Given the description of an element on the screen output the (x, y) to click on. 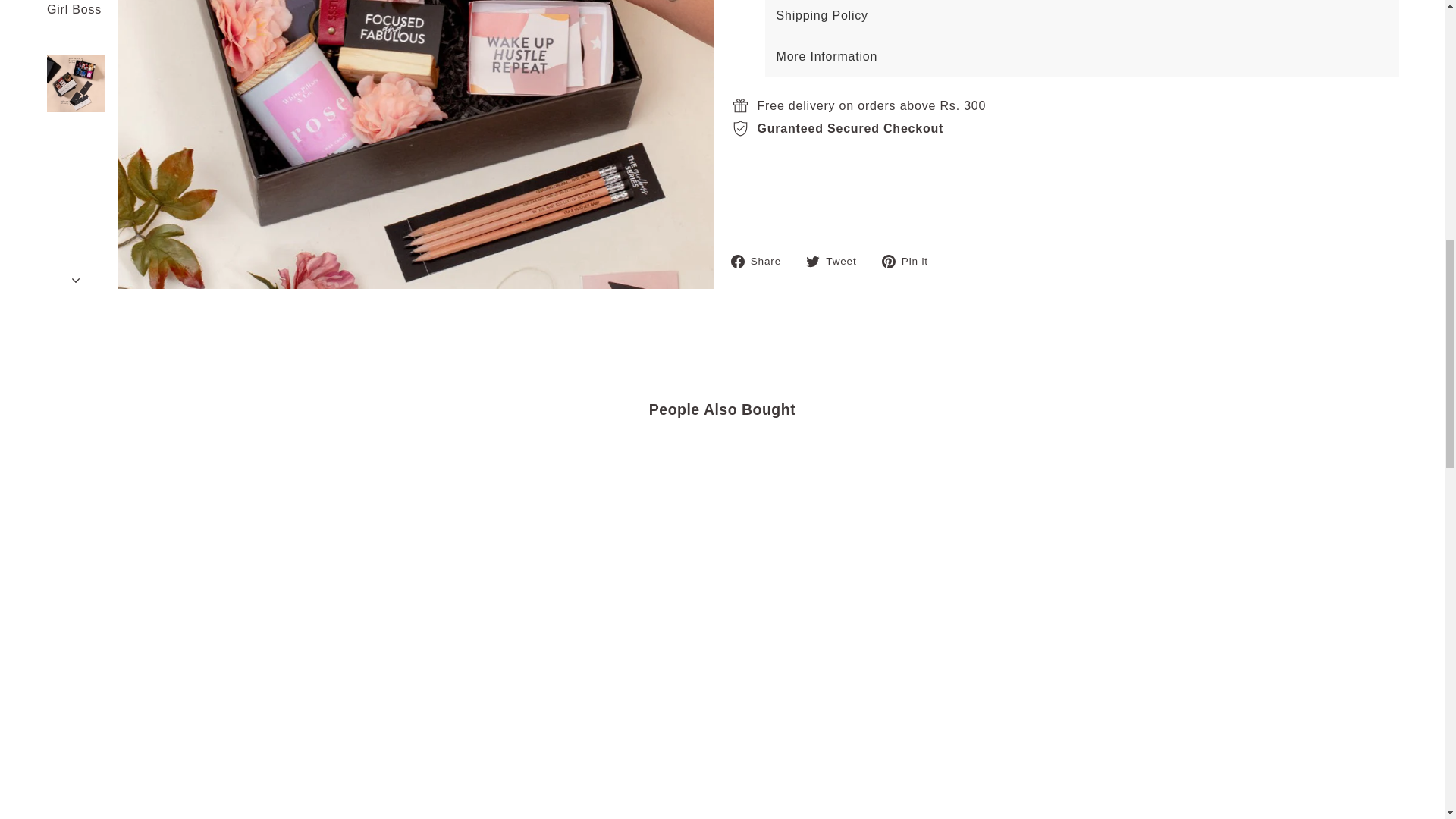
Share on Facebook (761, 260)
Pin on Pinterest (910, 260)
Tweet on Twitter (836, 260)
twitter (812, 261)
